Given the description of an element on the screen output the (x, y) to click on. 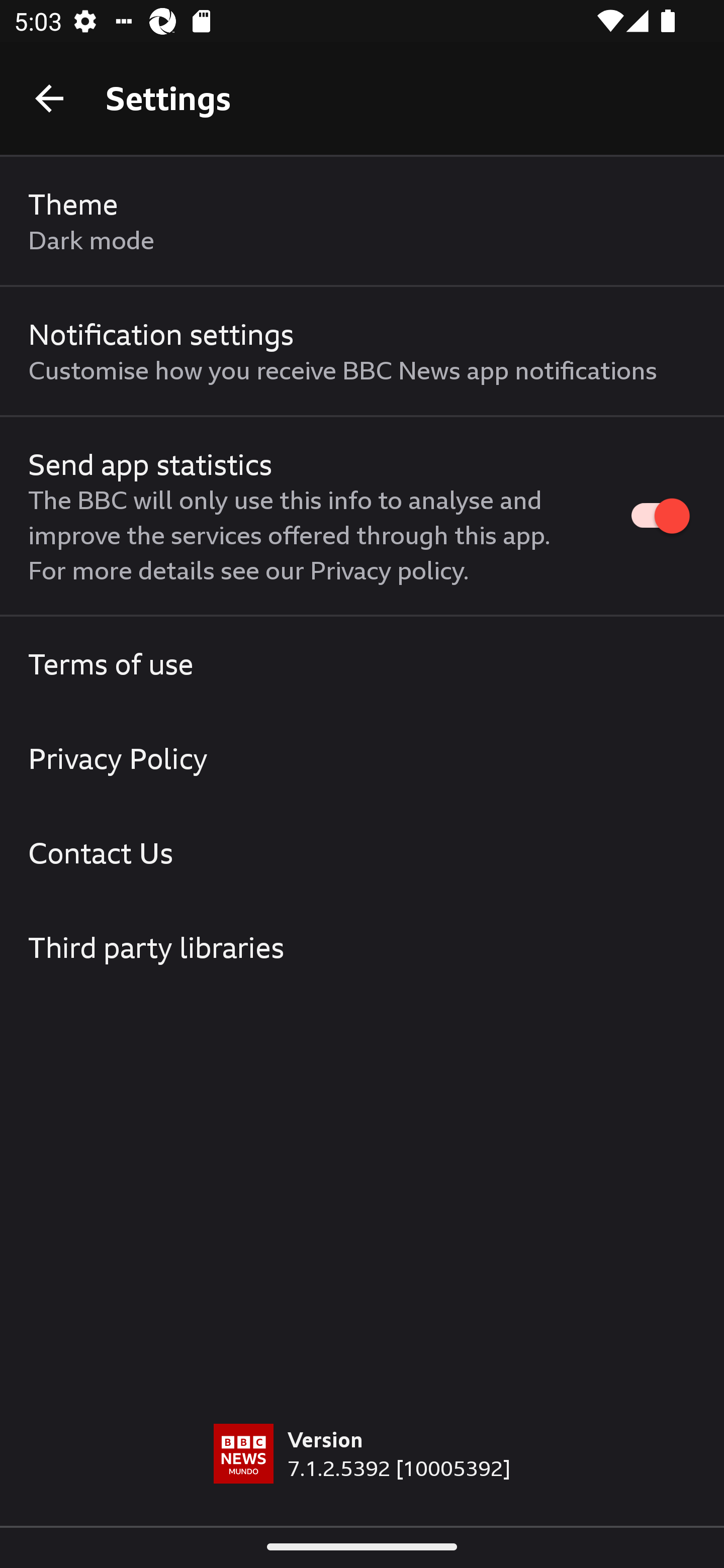
Back (49, 97)
Theme Dark mode (362, 220)
Terms of use (362, 663)
Privacy Policy (362, 758)
Contact Us (362, 852)
Third party libraries (362, 947)
Version 7.1.2.5392 [10005392] (362, 1474)
